Given the description of an element on the screen output the (x, y) to click on. 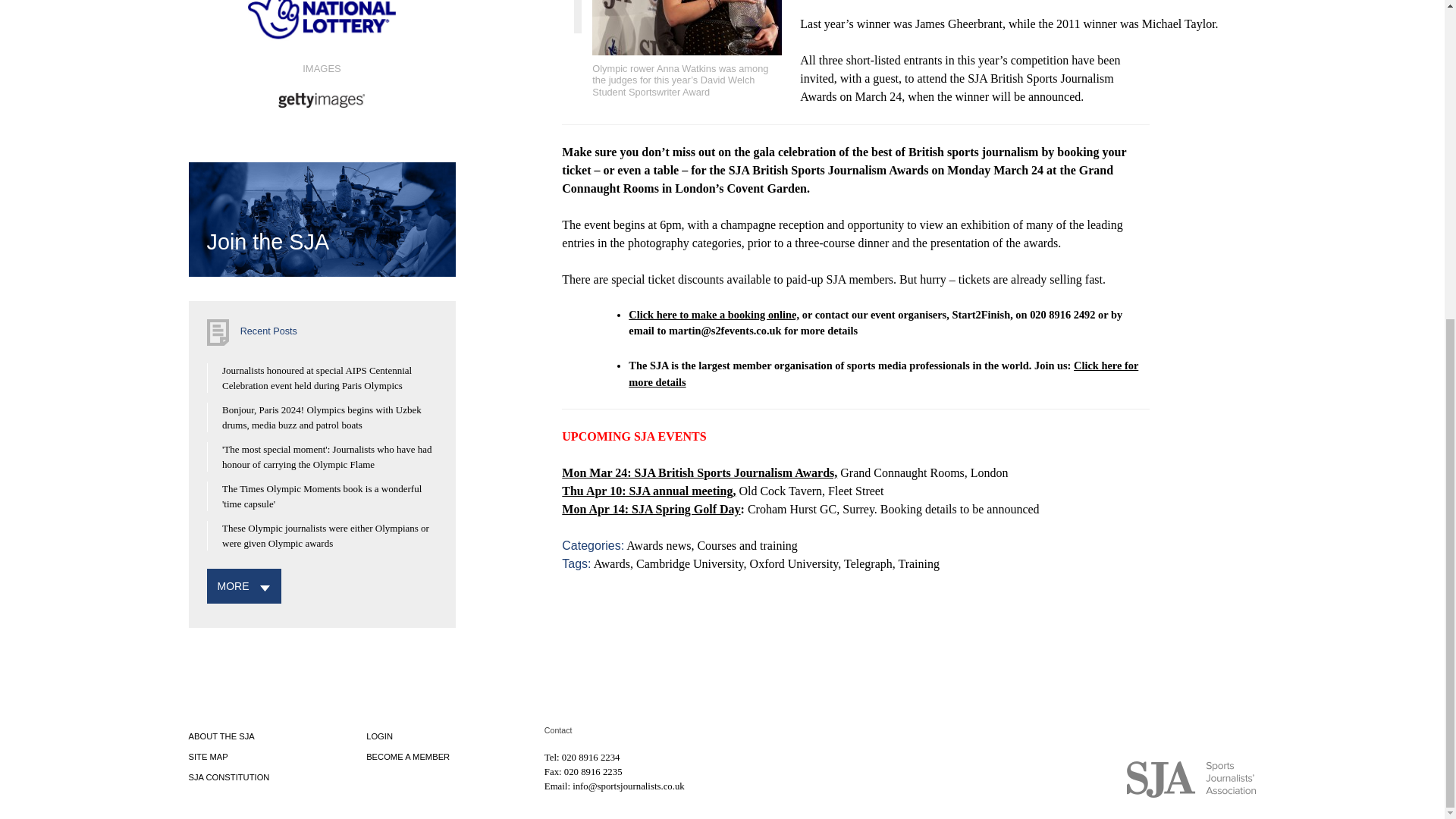
IMAGES (320, 84)
SPONSOR (320, 26)
Awards (612, 563)
Cambridge University (690, 563)
Telegraph (868, 563)
AIPS page (588, 93)
Training (918, 563)
AFFILIATE (588, 93)
Oxford University (793, 563)
